Given the description of an element on the screen output the (x, y) to click on. 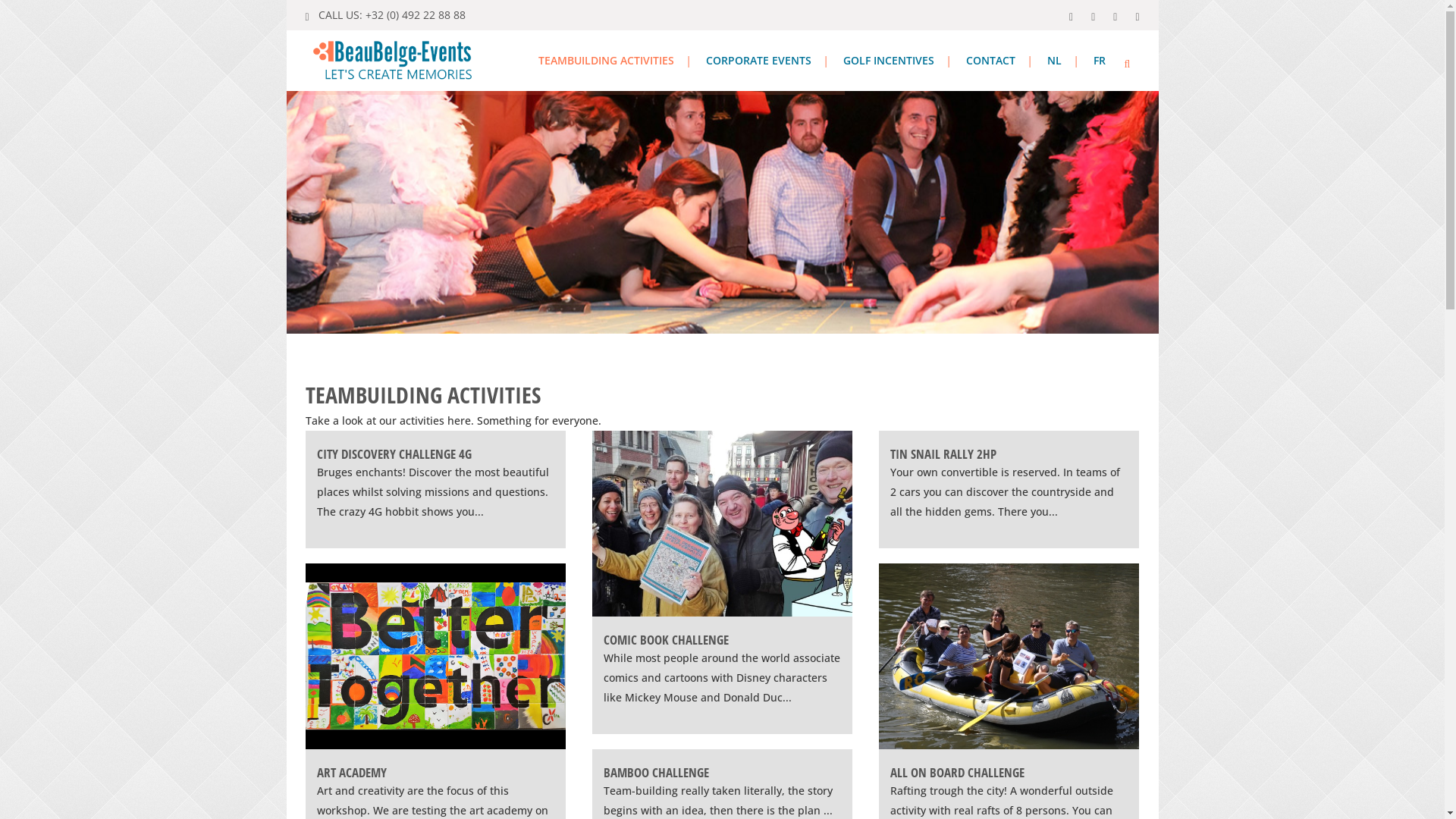
ALL ON BOARD CHALLENGE Element type: text (957, 772)
NL Element type: text (1054, 60)
CITY DISCOVERY CHALLENGE 4G Element type: text (393, 453)
CONTACT Element type: text (989, 60)
TEAMBUILDING ACTIVITIES Element type: text (605, 60)
TIN SNAIL RALLY 2HP Element type: text (943, 453)
ART ACADEMY Element type: text (351, 772)
BAMBOO CHALLENGE Element type: text (656, 772)
GOLF INCENTIVES Element type: text (887, 60)
CORPORATE EVENTS Element type: text (758, 60)
COMIC BOOK CHALLENGE Element type: text (665, 639)
FR Element type: text (1098, 60)
